Given the description of an element on the screen output the (x, y) to click on. 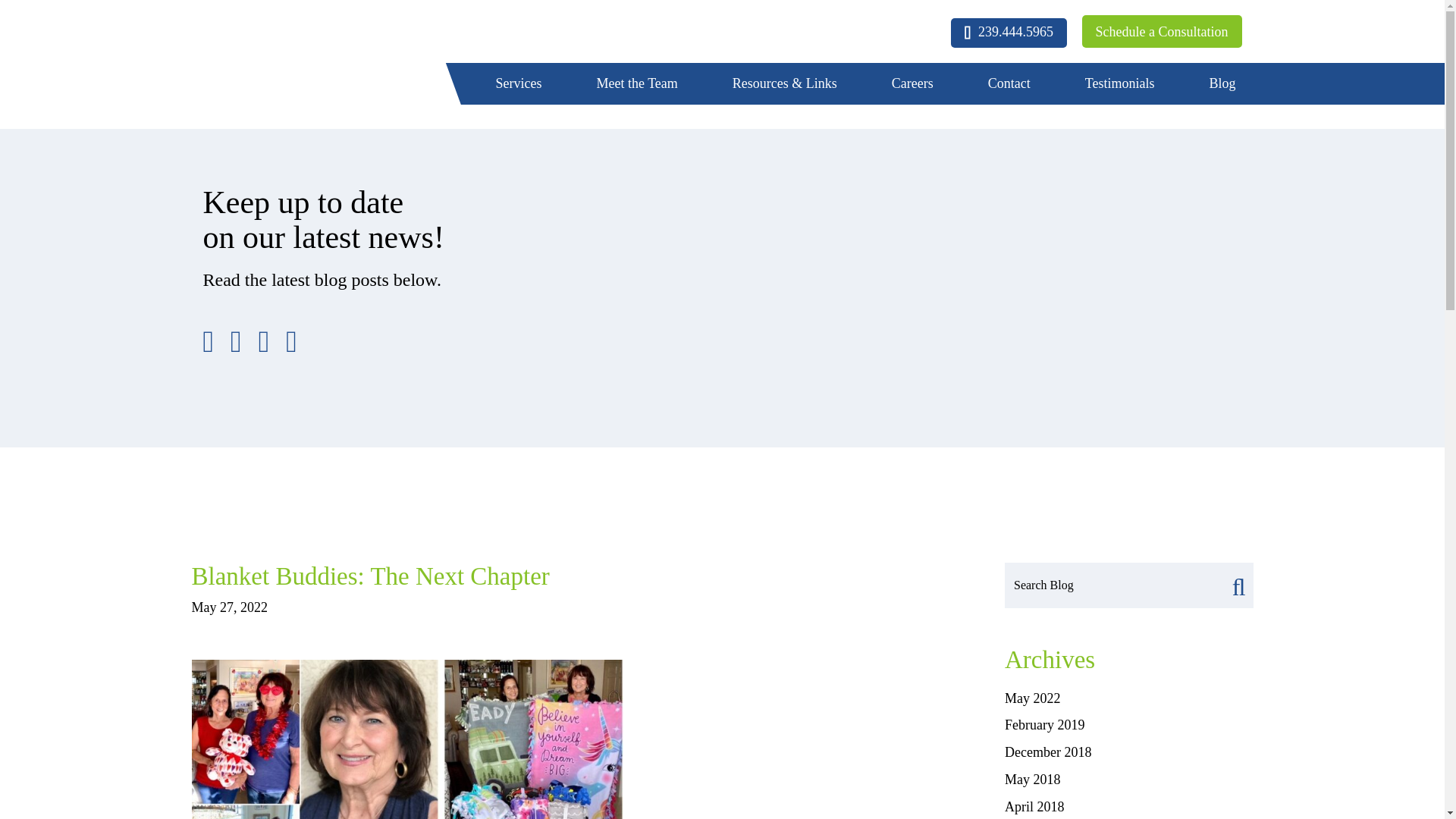
Services (518, 84)
Contact (1009, 84)
February 2019 (1044, 724)
Testimonials (1120, 84)
May 2018 (1032, 779)
Meet the Team (636, 84)
Careers (912, 84)
Blog (1222, 84)
239.444.5965 (1008, 32)
Schedule a Consultation (1161, 31)
April 2018 (1034, 806)
December 2018 (1047, 752)
May 2022 (1032, 698)
